Given the description of an element on the screen output the (x, y) to click on. 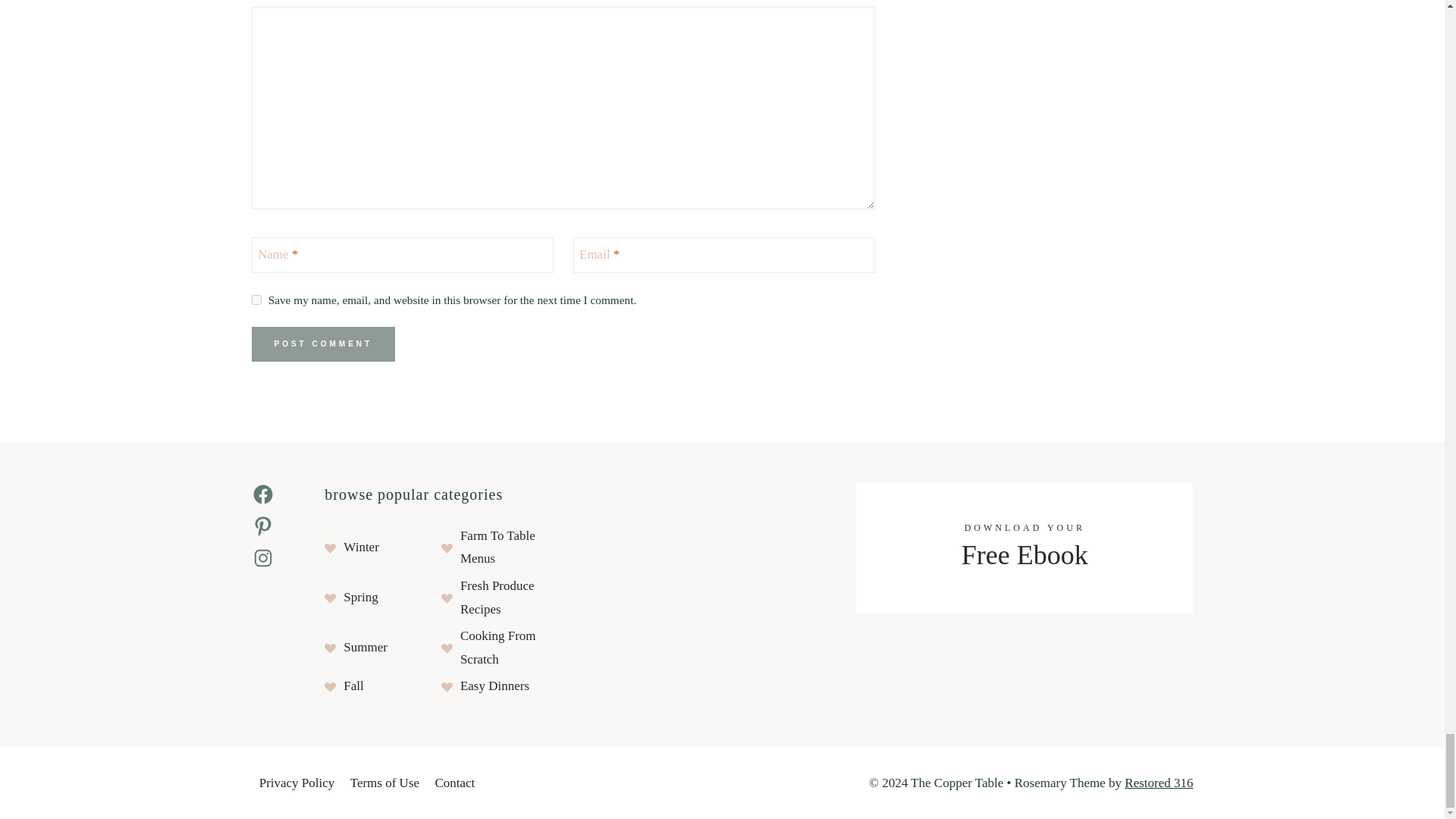
Post Comment (323, 343)
yes (256, 299)
